Given the description of an element on the screen output the (x, y) to click on. 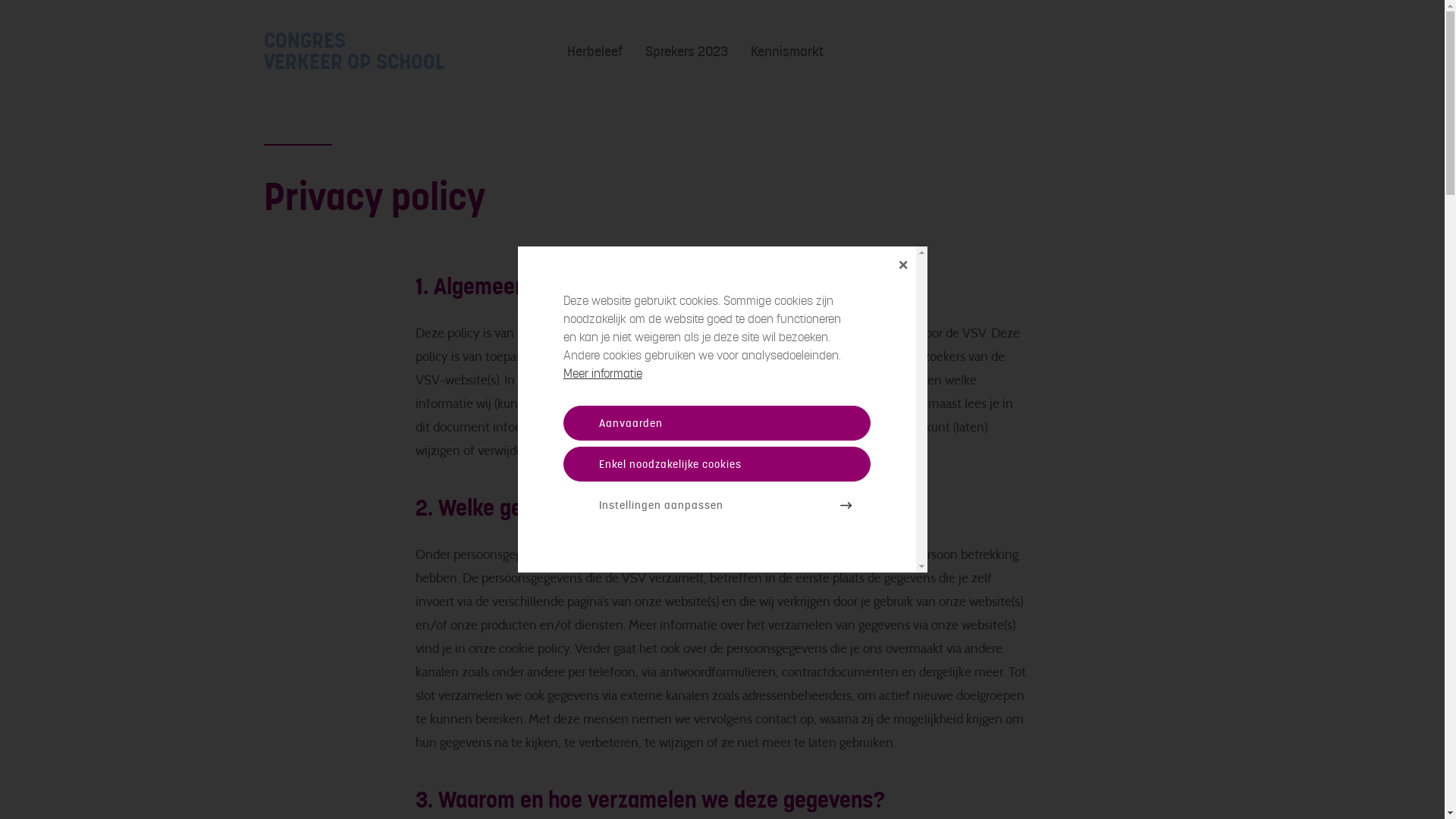
Herbeleef Element type: text (594, 51)
Meer informatie Element type: text (601, 373)
Kennismarkt Element type: text (786, 51)
CONGRES
VERKEER OP SCHOOL Element type: text (415, 51)
Enkel noodzakelijke cookies Element type: text (715, 463)
Sprekers 2023 Element type: text (685, 51)
Aanvaarden Element type: text (715, 422)
Instellingen aanpassen Element type: text (715, 504)
